Given the description of an element on the screen output the (x, y) to click on. 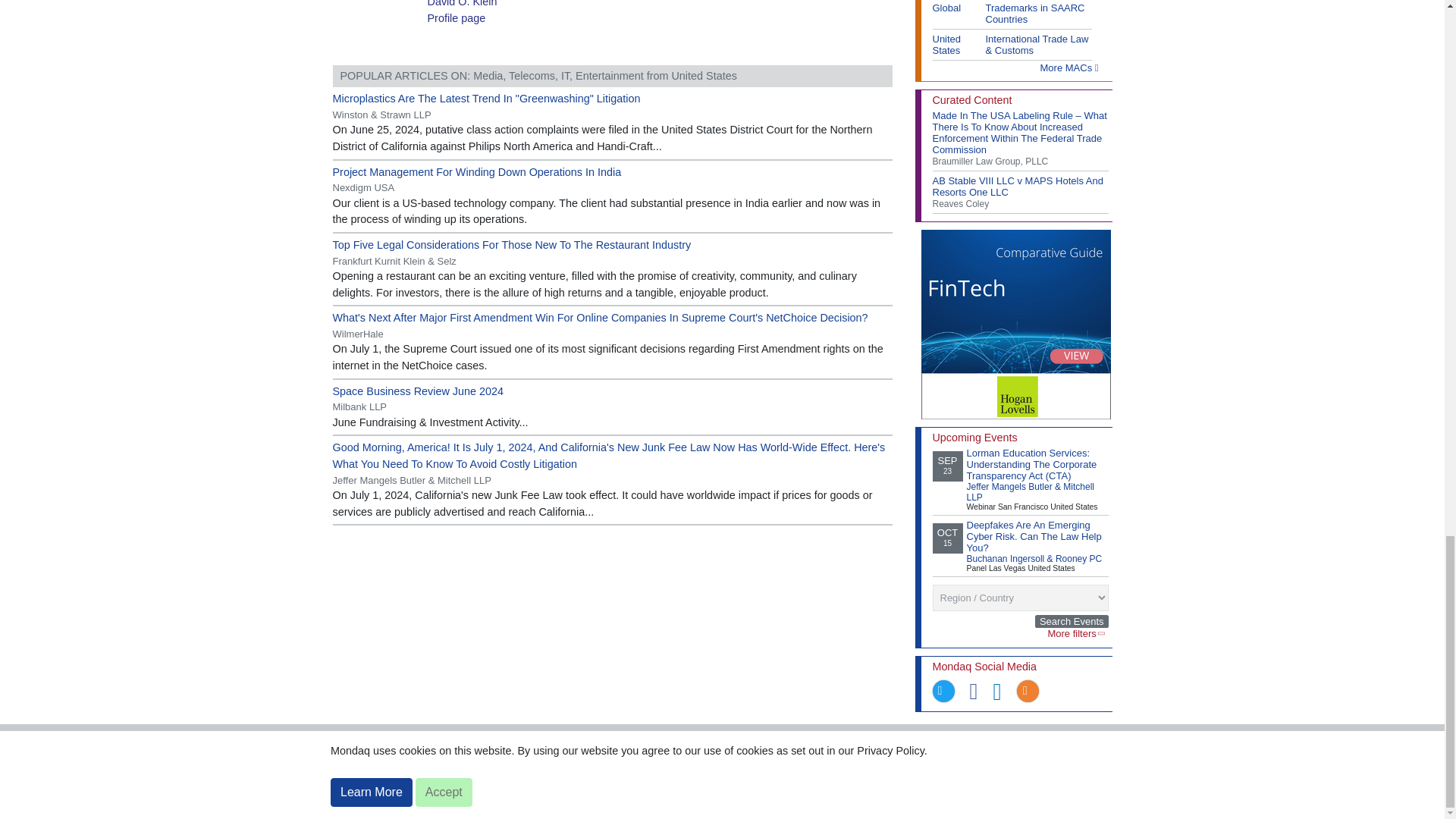
FinTech (1014, 324)
Search Events (1071, 621)
